Given the description of an element on the screen output the (x, y) to click on. 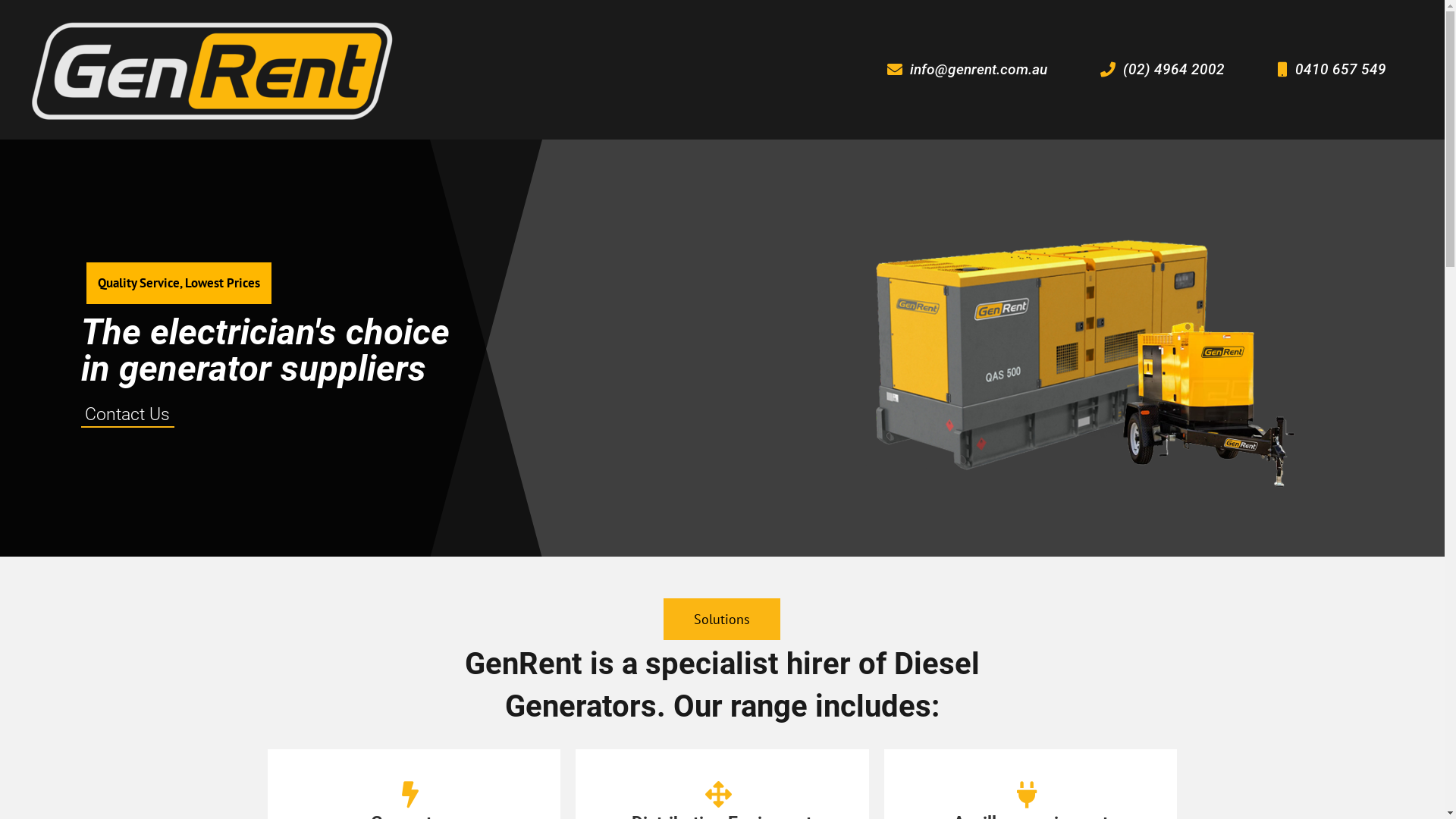
Contact Us Element type: text (126, 415)
0410 657 549 Element type: text (1331, 69)
info@genrent.com.au Element type: text (966, 69)
(02) 4964 2002 Element type: text (1161, 69)
Solutions Element type: text (721, 619)
